Given the description of an element on the screen output the (x, y) to click on. 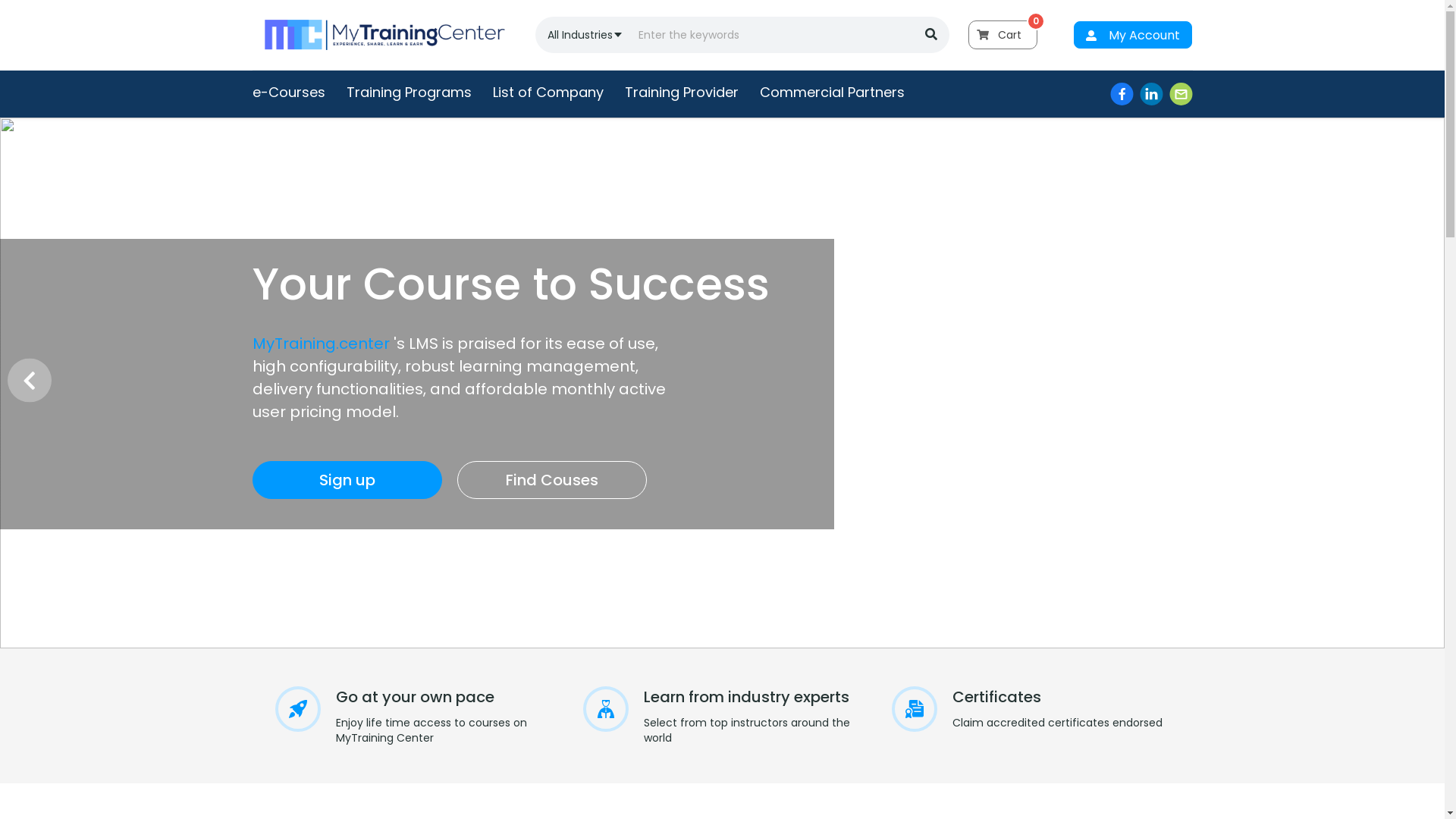
Sign up Element type: text (346, 479)
Training Programs Element type: text (407, 91)
2 Element type: text (286, 588)
All Industries Element type: text (579, 34)
3 Element type: text (305, 588)
Training Provider Element type: text (681, 91)
e-Courses Element type: text (287, 91)
1 Element type: text (268, 588)
Find Couses Element type: text (551, 479)
My Account Element type: text (1132, 34)
Commercial Partners Element type: text (831, 91)
List of Company Element type: text (547, 91)
